Given the description of an element on the screen output the (x, y) to click on. 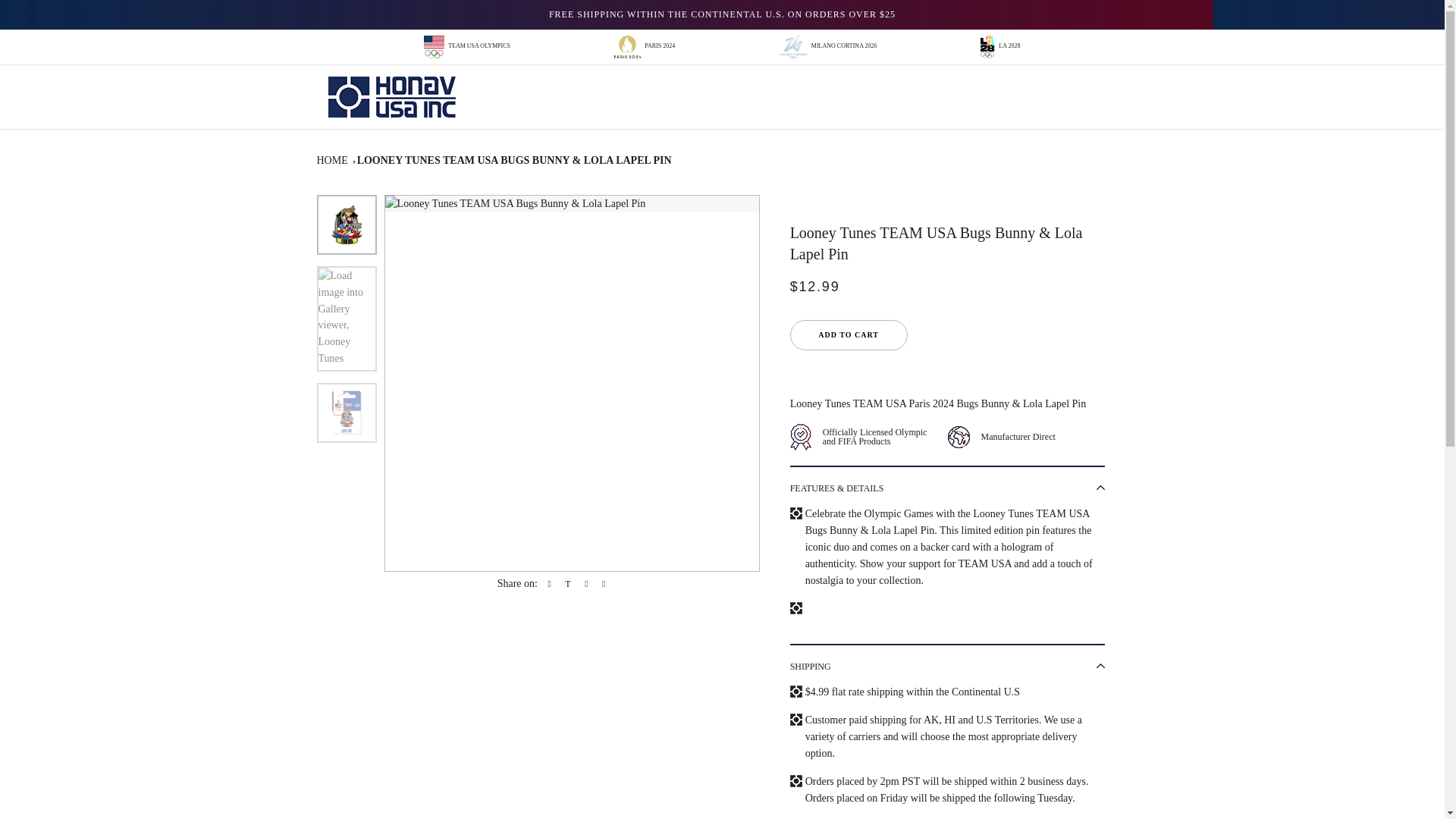
PARIS 2024 (644, 47)
MILANO CORTINA 2026 (827, 47)
TEAM USA OLYMPICS (466, 47)
LA 2028 (999, 47)
Tweet on Twitter (565, 583)
